Given the description of an element on the screen output the (x, y) to click on. 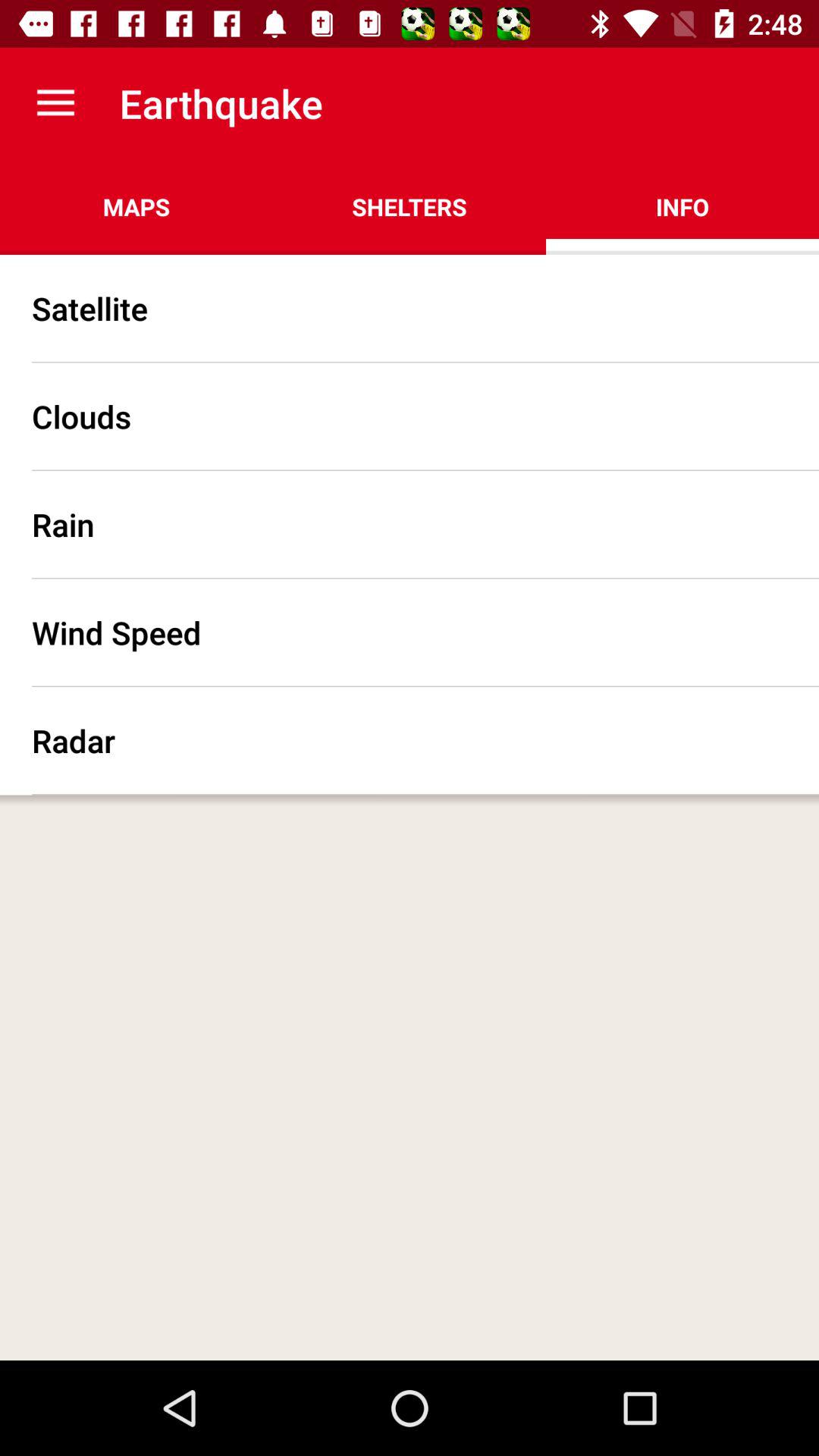
tap the icon above the satellite (136, 206)
